Given the description of an element on the screen output the (x, y) to click on. 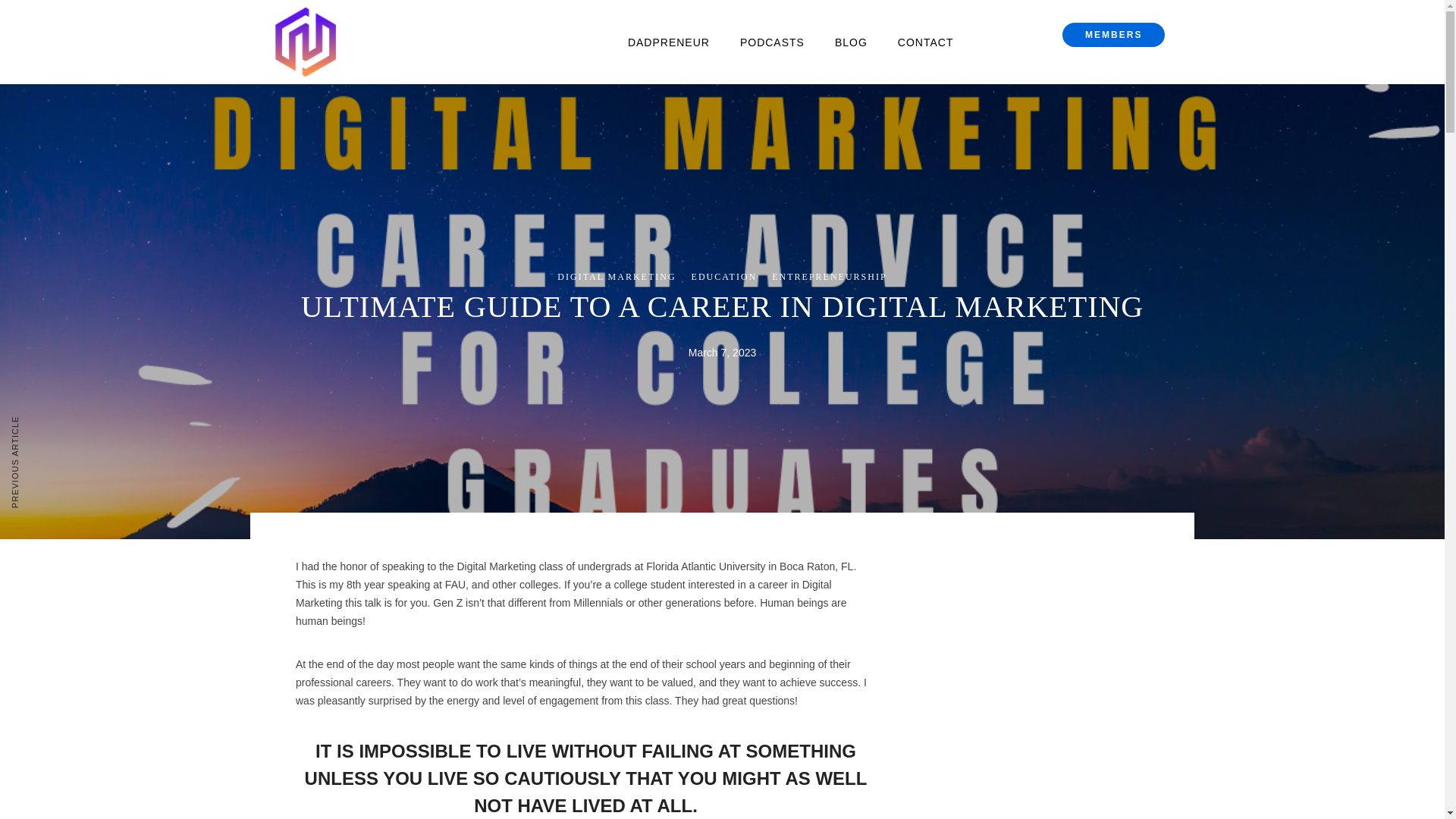
DADPRENEUR (668, 42)
MEMBERS (1113, 34)
BLOG (850, 42)
CONTACT (925, 42)
PODCASTS (772, 42)
ENTREPRENEURSHIP (828, 276)
DIGITAL MARKETING (616, 276)
EDUCATION (724, 276)
